Given the description of an element on the screen output the (x, y) to click on. 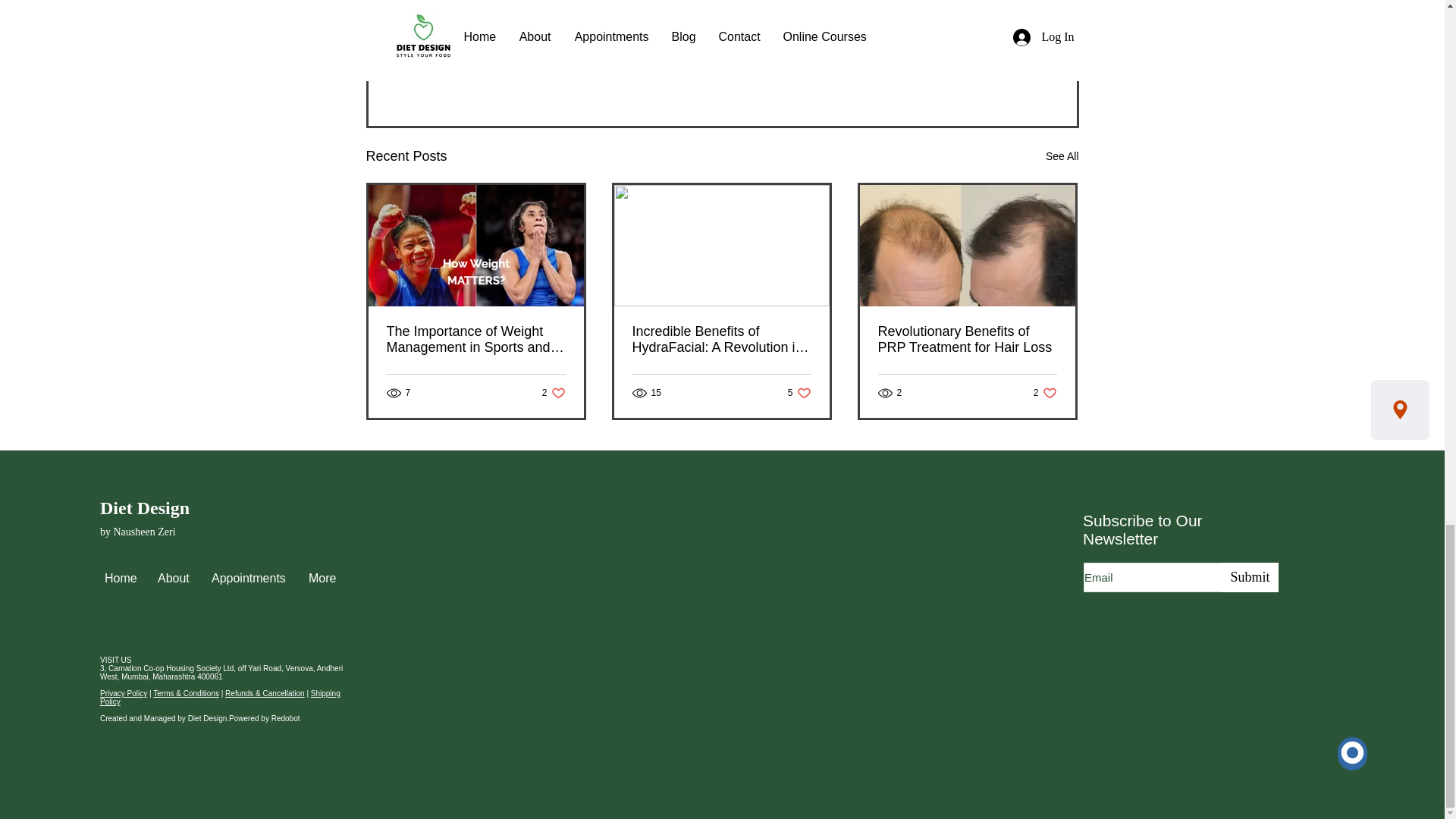
Home (120, 577)
Diet Design (553, 392)
Incredible Benefits of HydraFacial: A Revolution in Skincare (144, 507)
Revolutionary Benefits of PRP Treatment for Hair Loss (1045, 392)
The Importance of Weight Management in Sports and Daily Life (720, 339)
by Nausheen Zeri (967, 339)
